Given the description of an element on the screen output the (x, y) to click on. 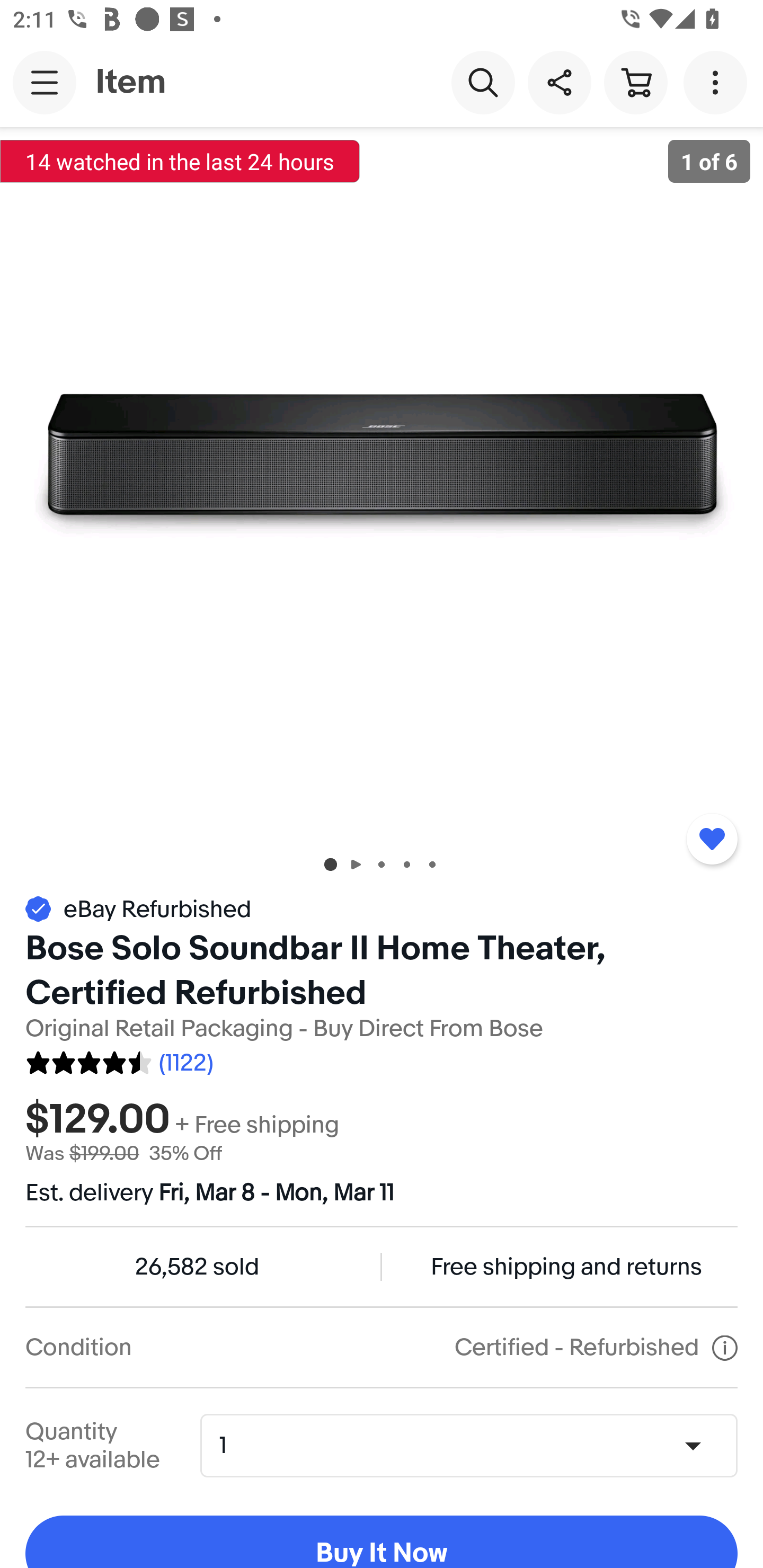
Main navigation, open (44, 82)
Search (482, 81)
Share this item (559, 81)
Cart button shopping cart (635, 81)
More options (718, 81)
Item image 1 of 6 (381, 482)
14 watched in the last 24 hours (180, 161)
Added to watchlist (711, 838)
Quantity,1,12+ available 1 (474, 1445)
Buy It Now (381, 1542)
